Given the description of an element on the screen output the (x, y) to click on. 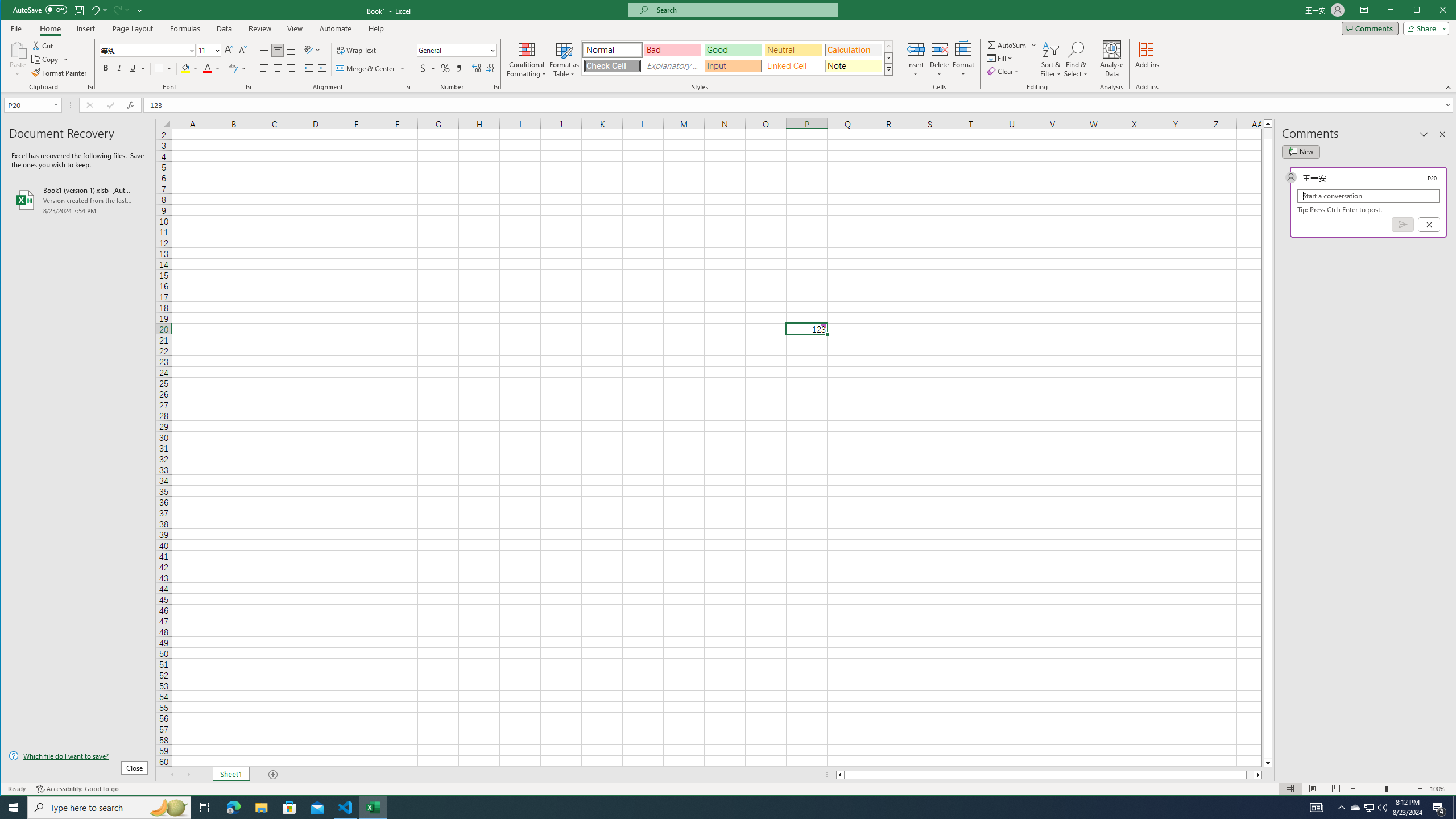
Orientation (312, 49)
Good (732, 49)
File Explorer (261, 807)
Percent Style (445, 68)
Start (13, 807)
Calculation (853, 49)
